Given the description of an element on the screen output the (x, y) to click on. 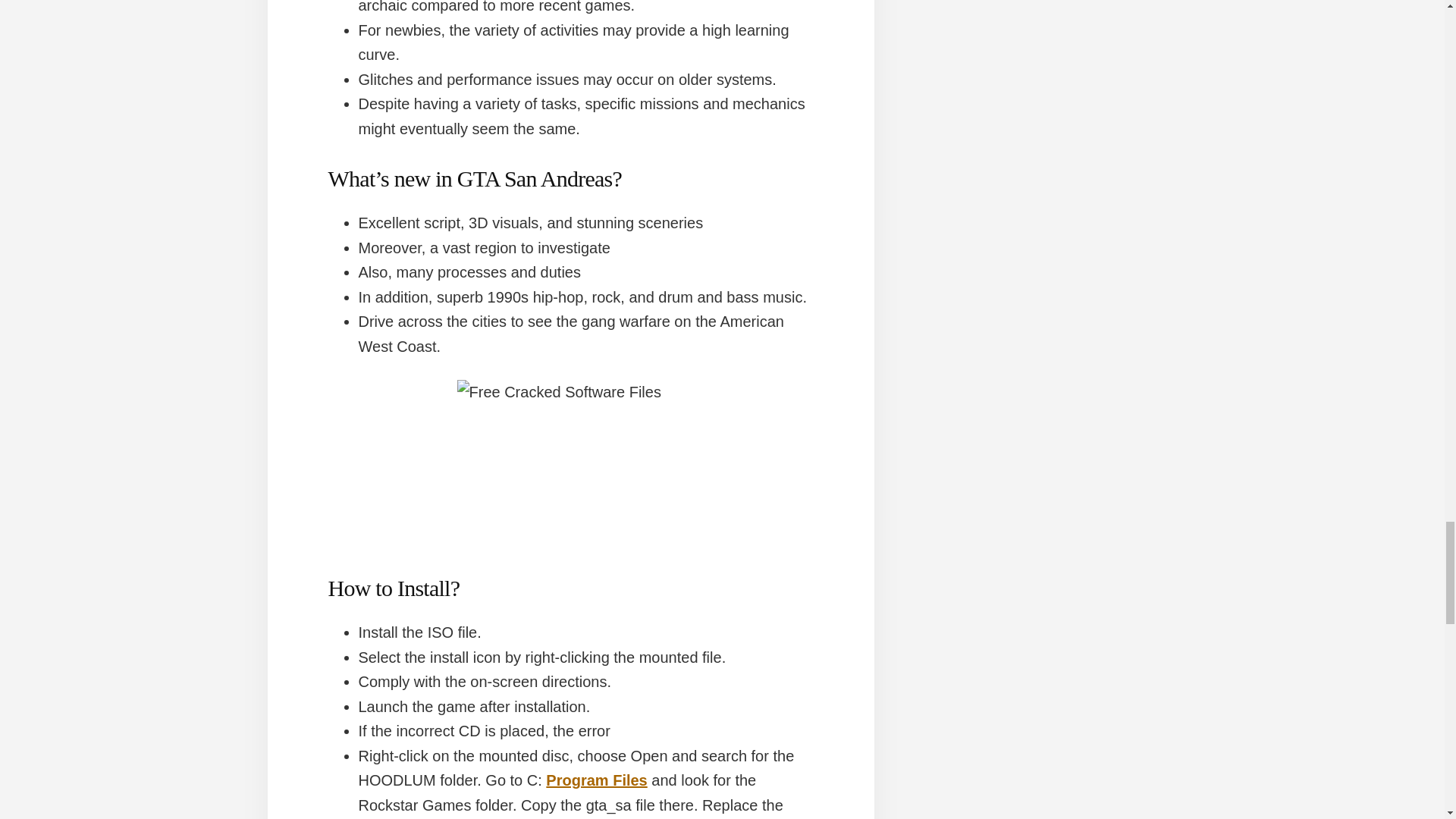
Program Files (596, 780)
